Given the description of an element on the screen output the (x, y) to click on. 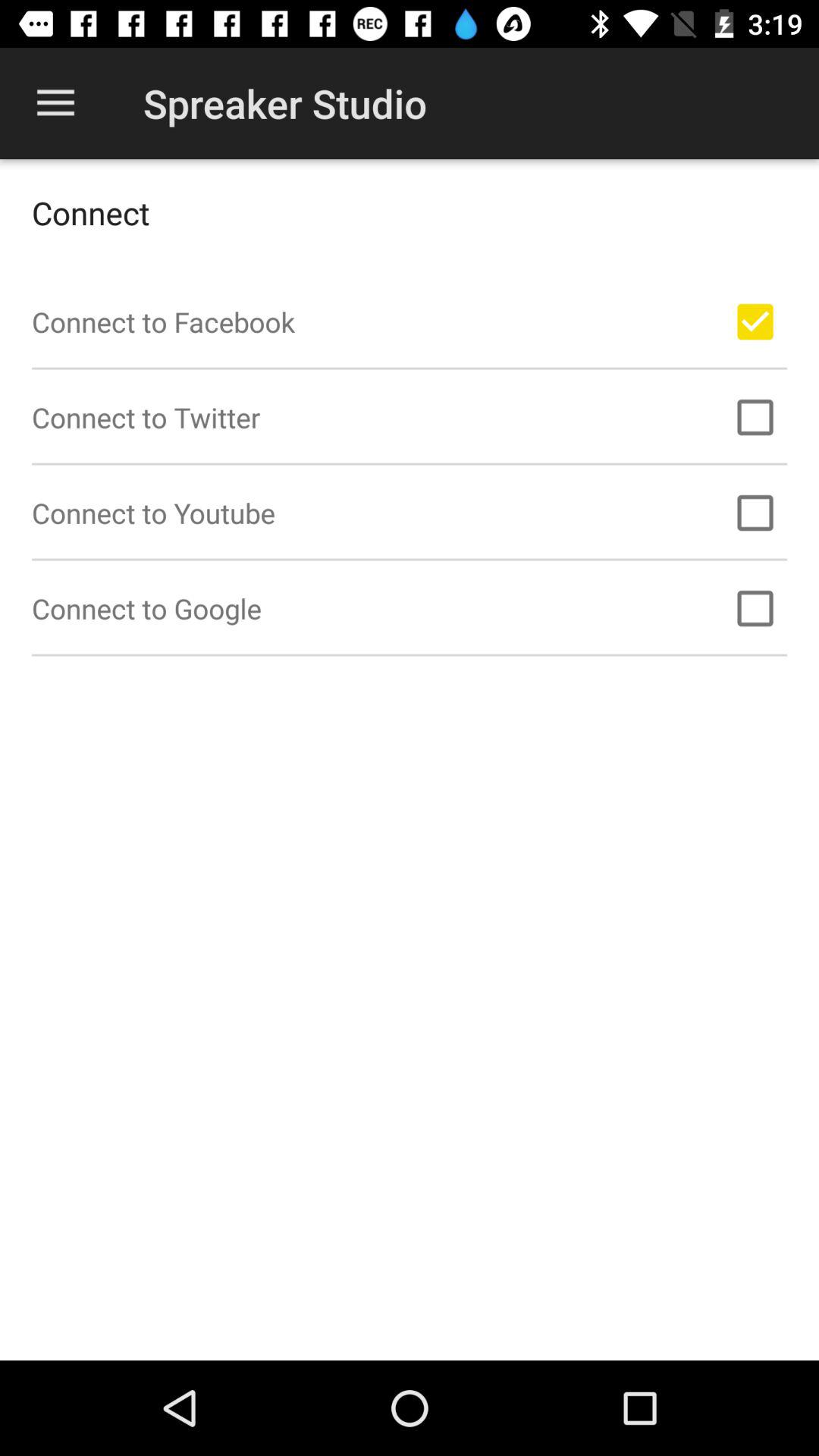
check off (755, 608)
